Given the description of an element on the screen output the (x, y) to click on. 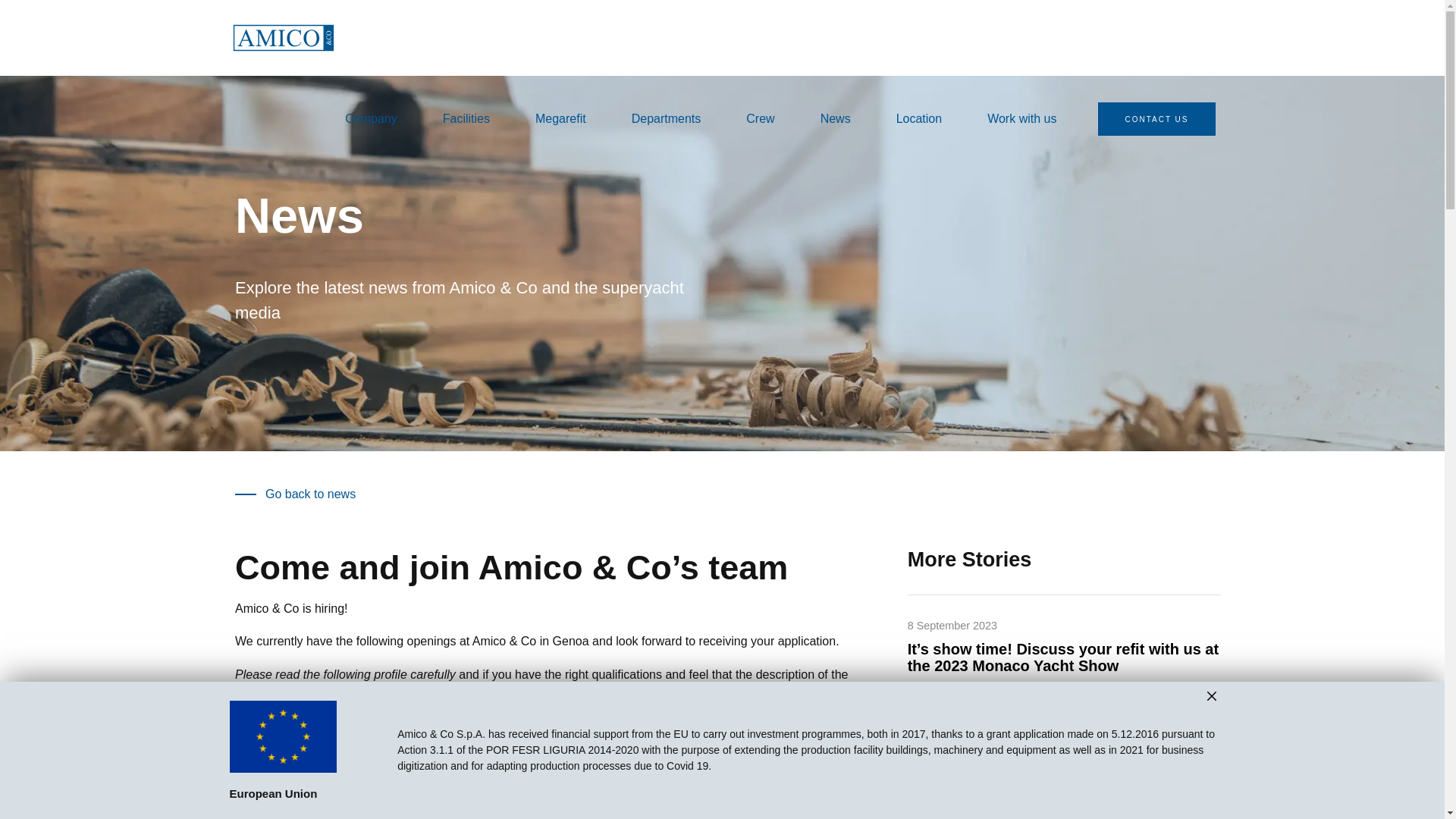
CONTACT US (1155, 118)
Go back to news (294, 493)
Departments (666, 117)
Work with us (1022, 117)
Work with Us (590, 696)
READ MORE (1064, 728)
